Given the description of an element on the screen output the (x, y) to click on. 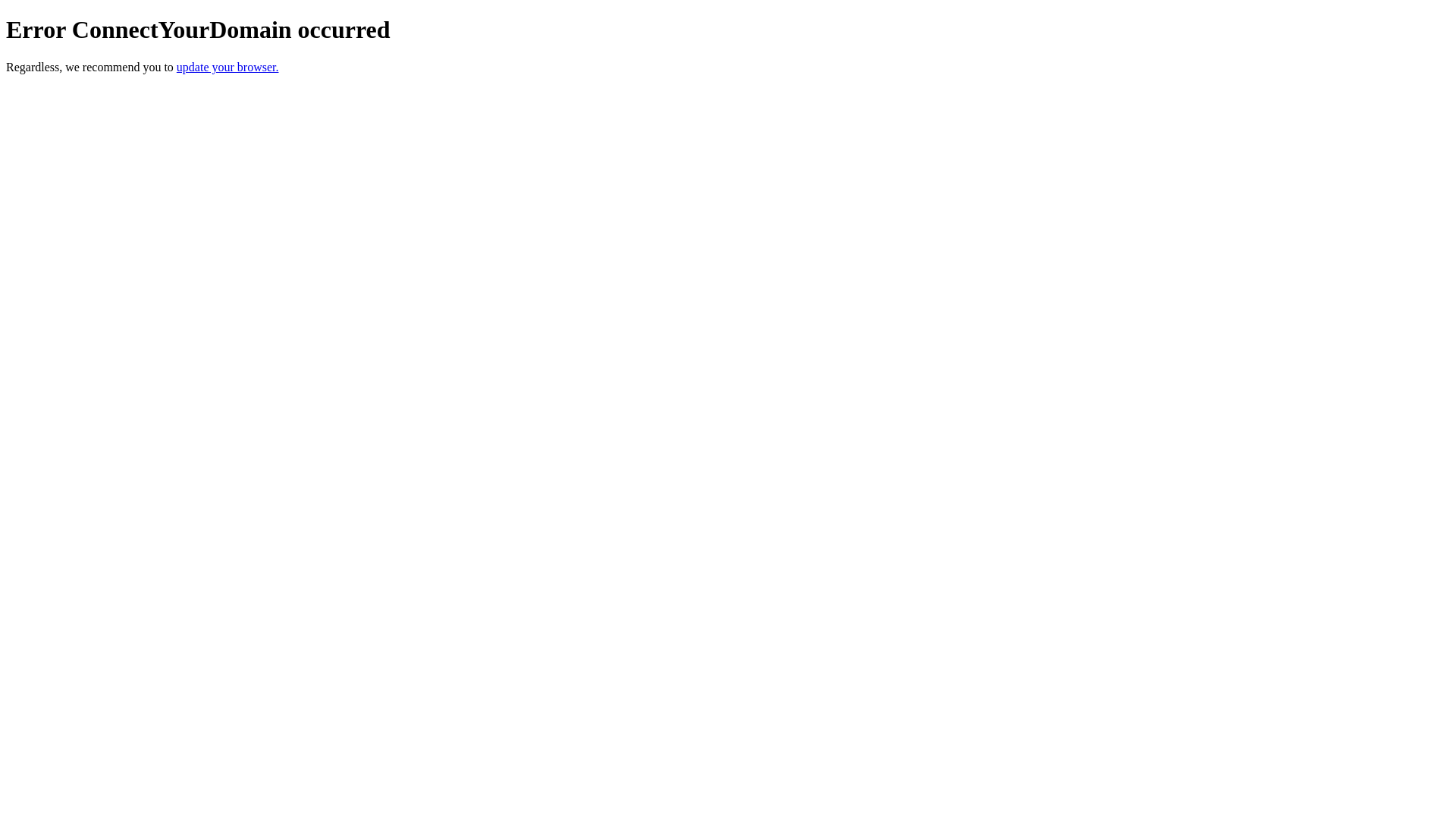
update your browser. Element type: text (227, 66)
